Given the description of an element on the screen output the (x, y) to click on. 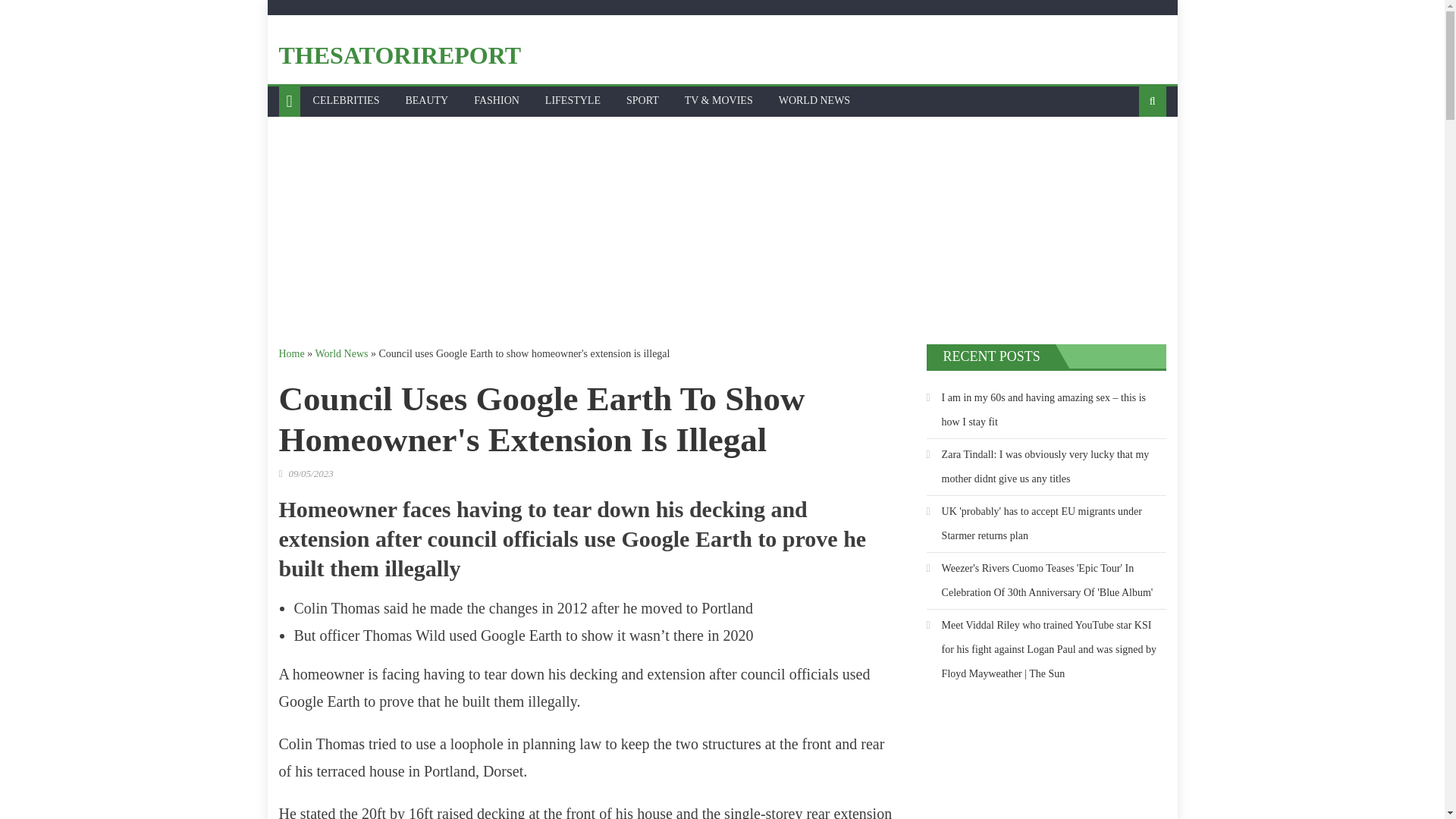
World News (341, 353)
Home (291, 353)
BEAUTY (426, 100)
CELEBRITIES (346, 100)
Search (1128, 150)
FASHION (497, 100)
LIFESTYLE (572, 100)
SPORT (641, 100)
THESATORIREPORT (400, 54)
WORLD NEWS (814, 100)
